Given the description of an element on the screen output the (x, y) to click on. 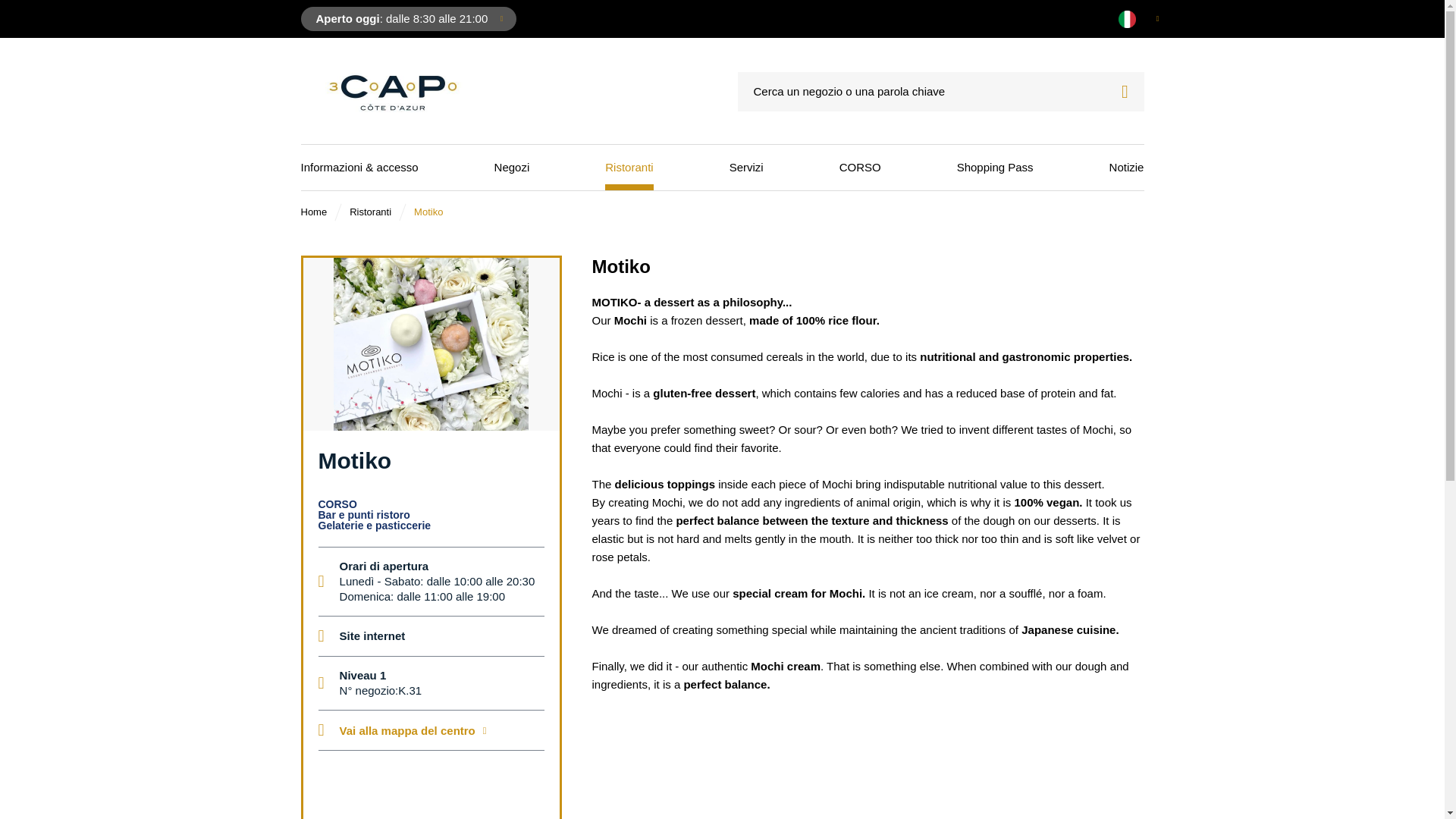
Niveau 1 (363, 675)
Servizi (745, 167)
Motiko (427, 211)
Motiko (427, 211)
Site internet (372, 635)
Negozi (512, 167)
Home (312, 211)
Vai alla mappa del centro (412, 730)
Notizie (1126, 167)
CORSO (860, 167)
Home (312, 211)
Shopping Pass (407, 18)
Ristoranti (994, 167)
Ristoranti (628, 167)
